Given the description of an element on the screen output the (x, y) to click on. 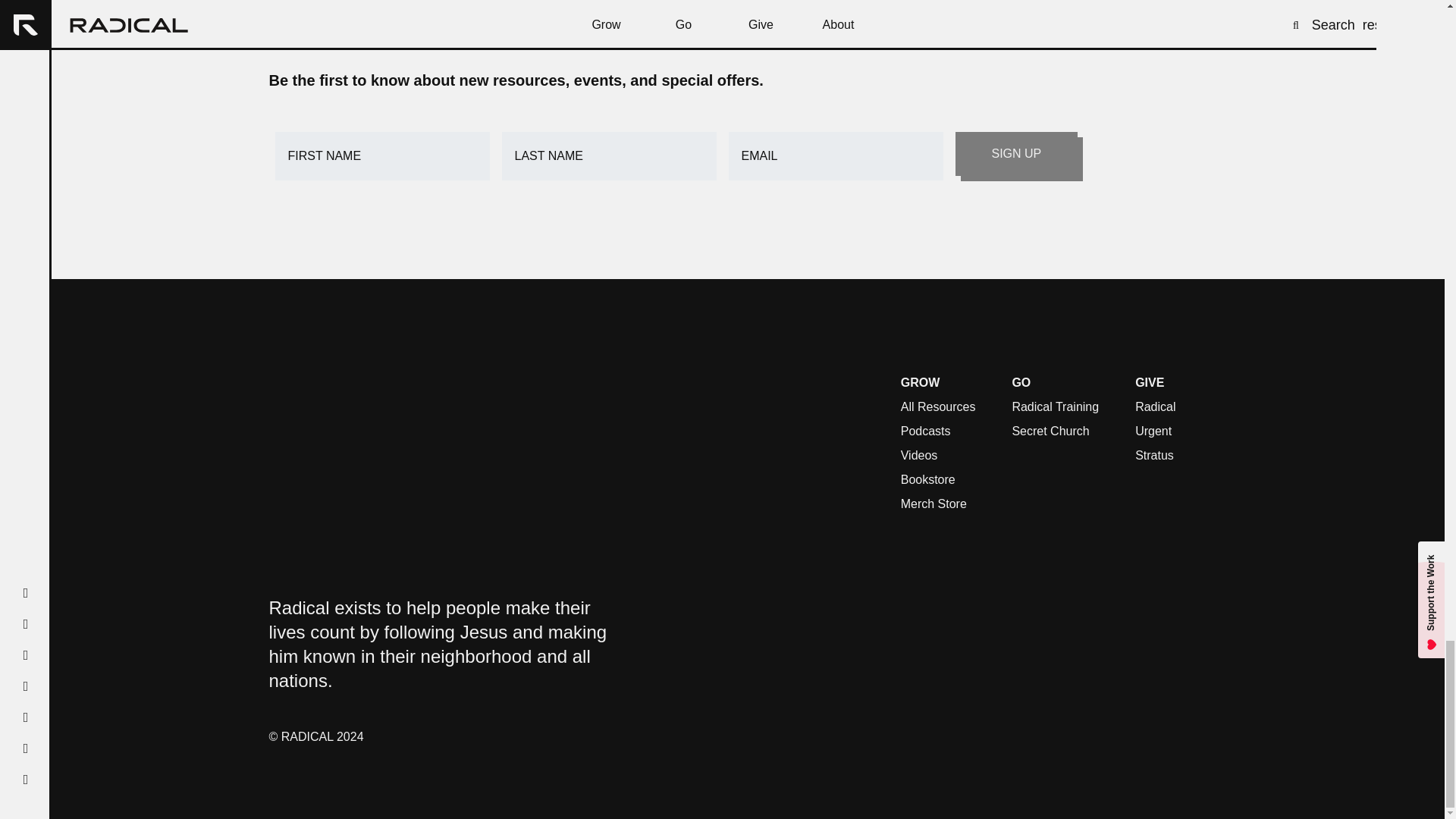
Sign Up (1016, 153)
